Given the description of an element on the screen output the (x, y) to click on. 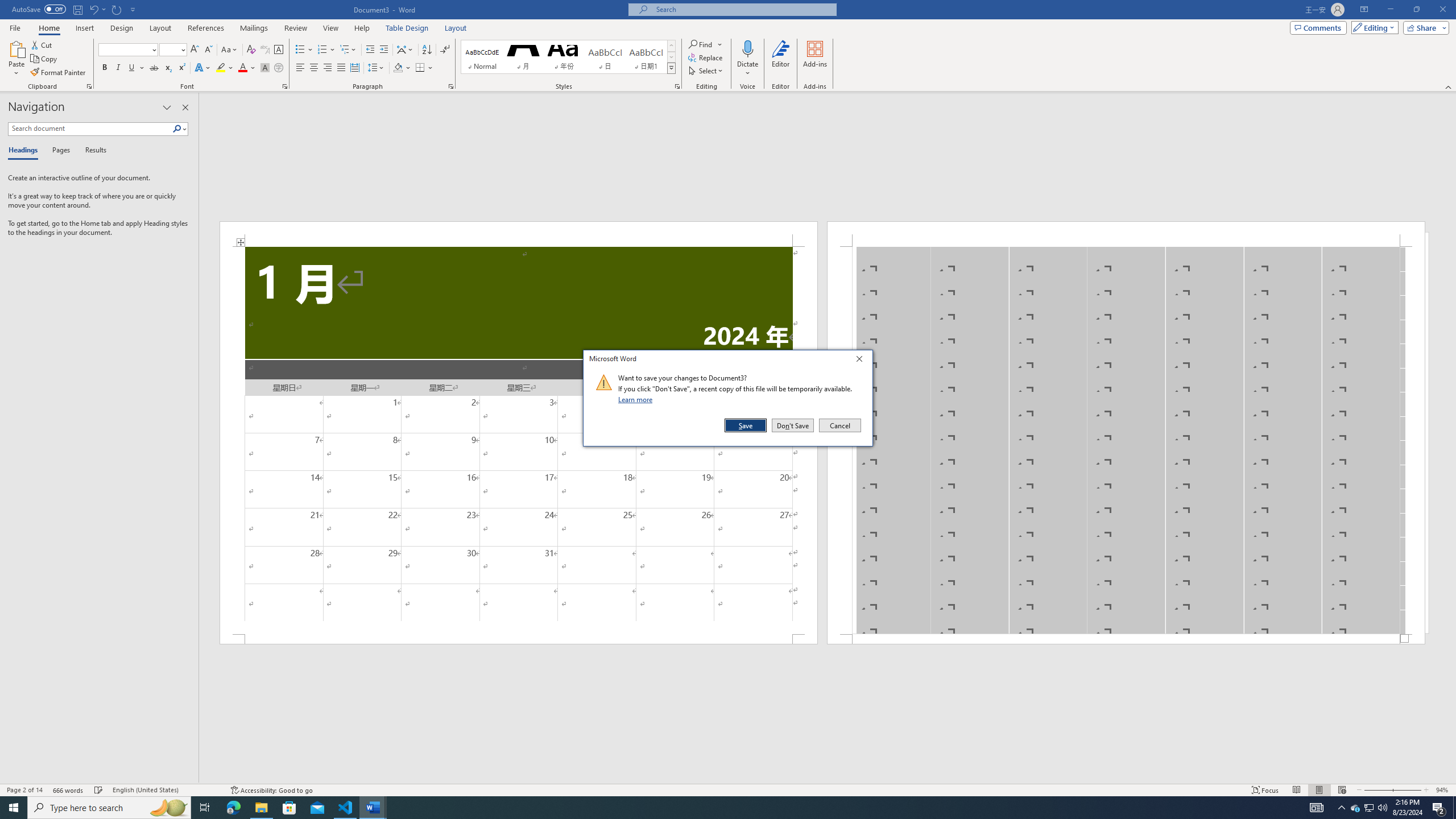
Increase Indent (1355, 807)
Subscript (383, 49)
Microsoft Edge (167, 67)
Class: NetUIScrollBar (233, 807)
Action Center, 2 new notifications (827, 778)
Language English (United States) (1439, 807)
Row Down (165, 790)
Microsoft search (670, 56)
Microsoft Store (742, 9)
